Given the description of an element on the screen output the (x, y) to click on. 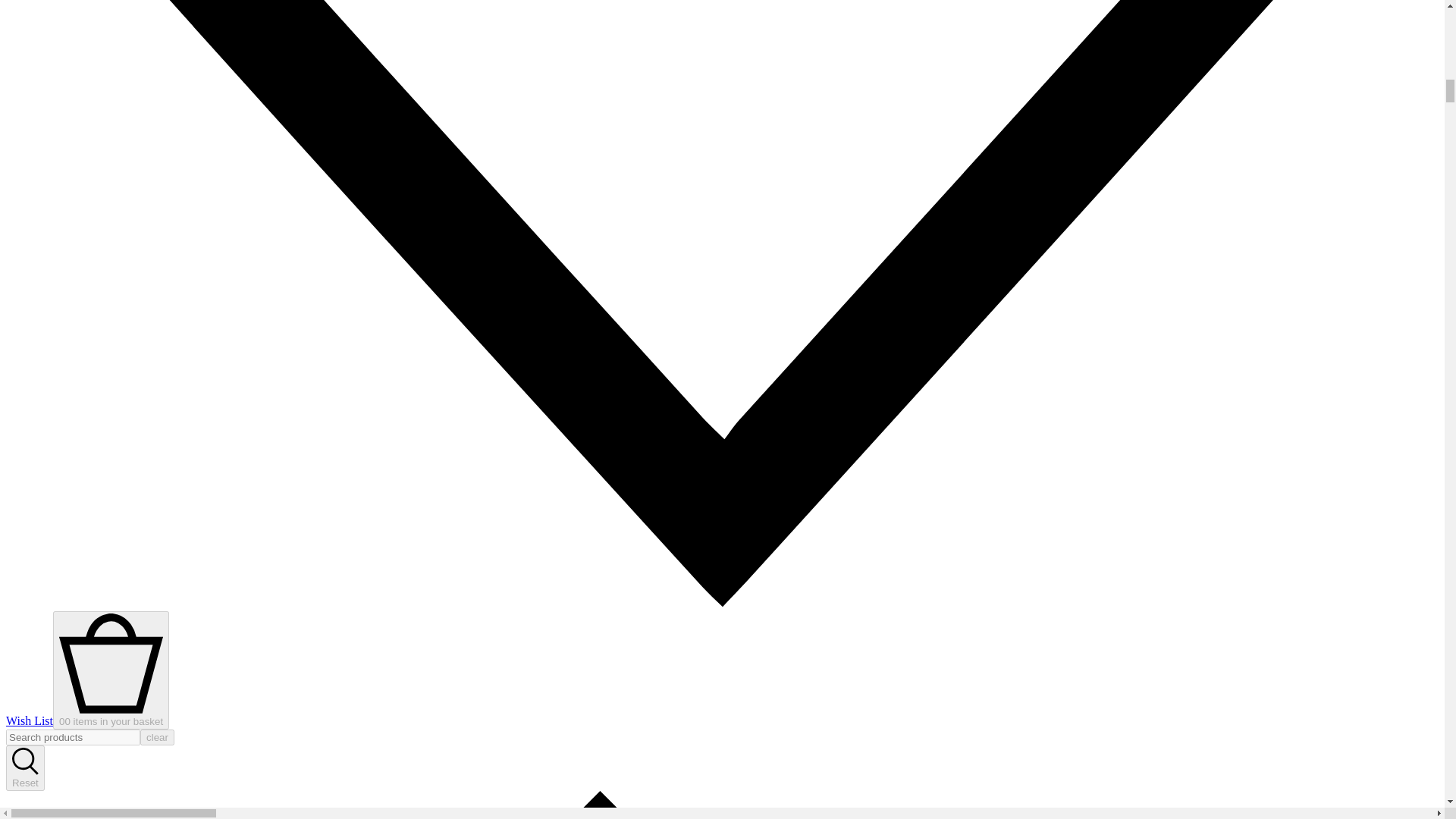
BagFilled (111, 715)
Search (25, 771)
0 items in your basket (110, 669)
clear (156, 737)
Tops (721, 805)
